Given the description of an element on the screen output the (x, y) to click on. 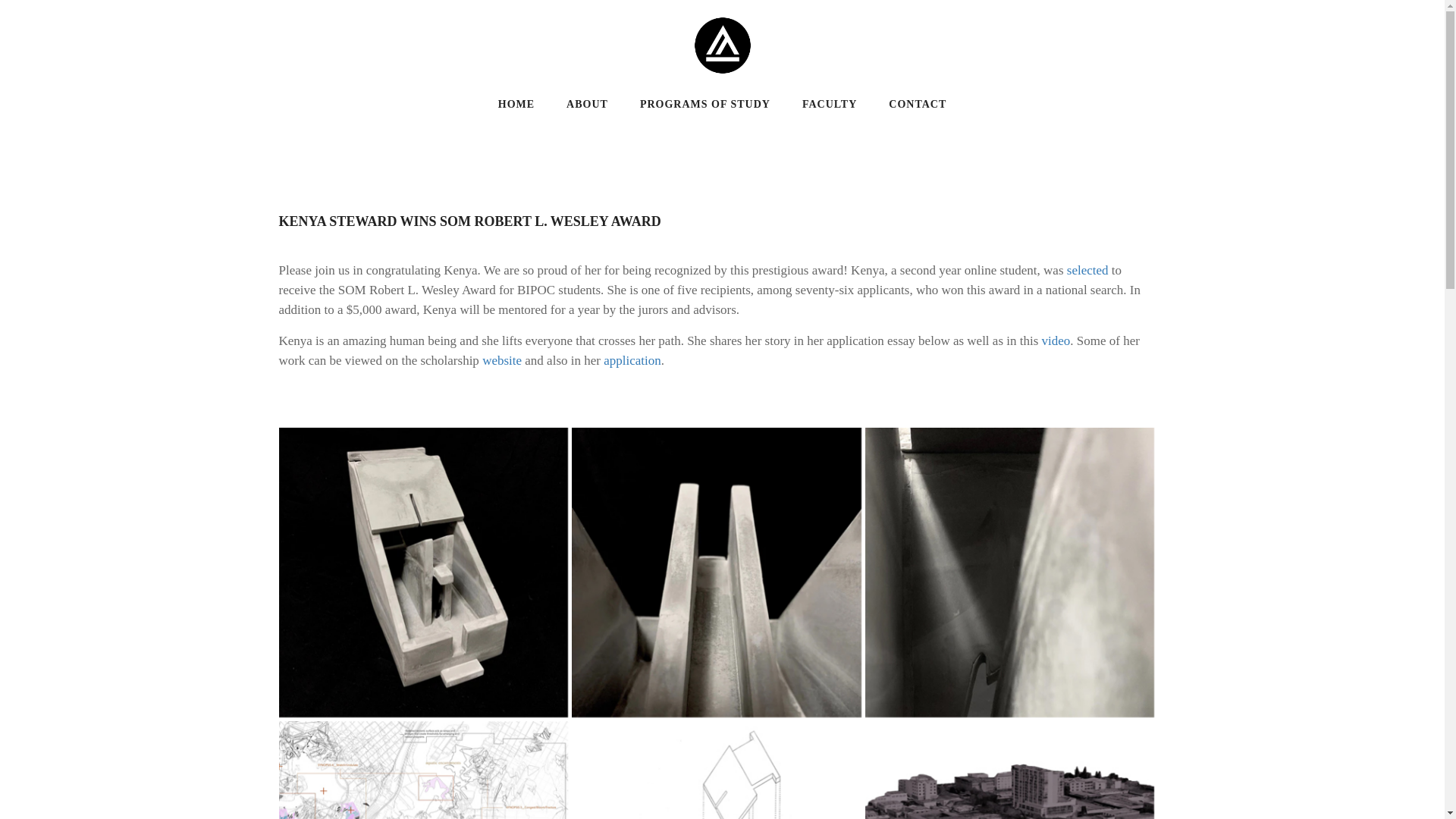
ABOUT (587, 103)
som-kenya-5 (424, 770)
website (501, 359)
HOME (515, 103)
video (1056, 340)
PROGRAMS OF STUDY (705, 103)
som-kenya-1 (424, 572)
selected  (1089, 269)
CONTACT (917, 103)
application (632, 359)
